Given the description of an element on the screen output the (x, y) to click on. 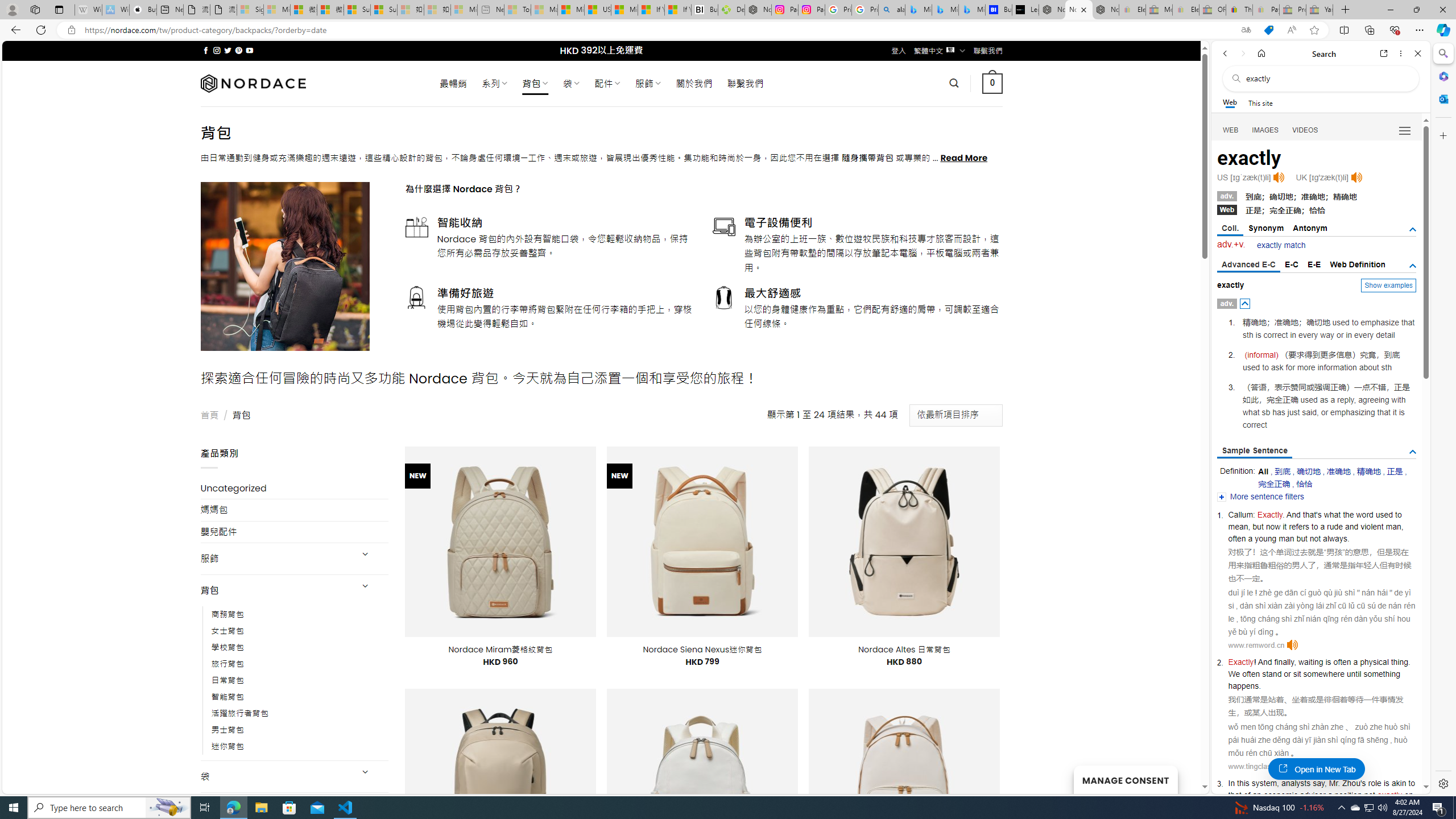
This site has coupons! Shopping in Microsoft Edge (1268, 29)
role (1374, 782)
Sign in to your Microsoft account - Sleeping (249, 9)
Class: b_serphb (1404, 130)
